Given the description of an element on the screen output the (x, y) to click on. 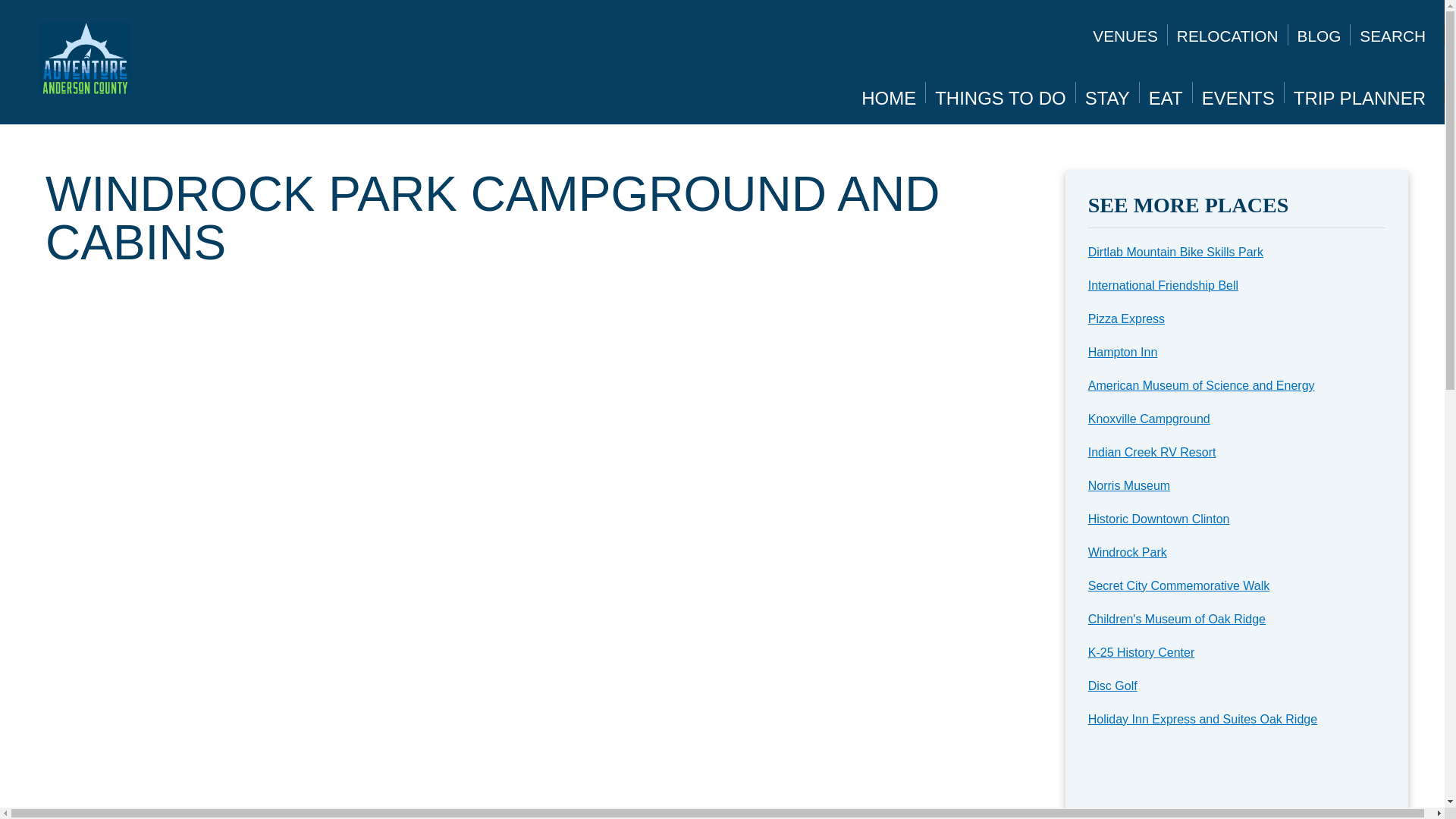
Pizza Express (1125, 318)
STAY (1106, 97)
K-25 History Center (1141, 652)
EVENTS (1238, 97)
THINGS TO DO (999, 97)
Secret City Commemorative Walk (1178, 585)
Norris Museum (1128, 485)
RELOCATION (1227, 36)
HOME (888, 97)
Windrock Park (1127, 552)
Dirtlab Mountain Bike Skills Park (1175, 251)
Children's Museum of Oak Ridge (1176, 618)
Holiday Inn Express and Suites Oak Ridge (1202, 718)
American Museum of Science and Energy (1200, 385)
Hampton Inn (1122, 351)
